Given the description of an element on the screen output the (x, y) to click on. 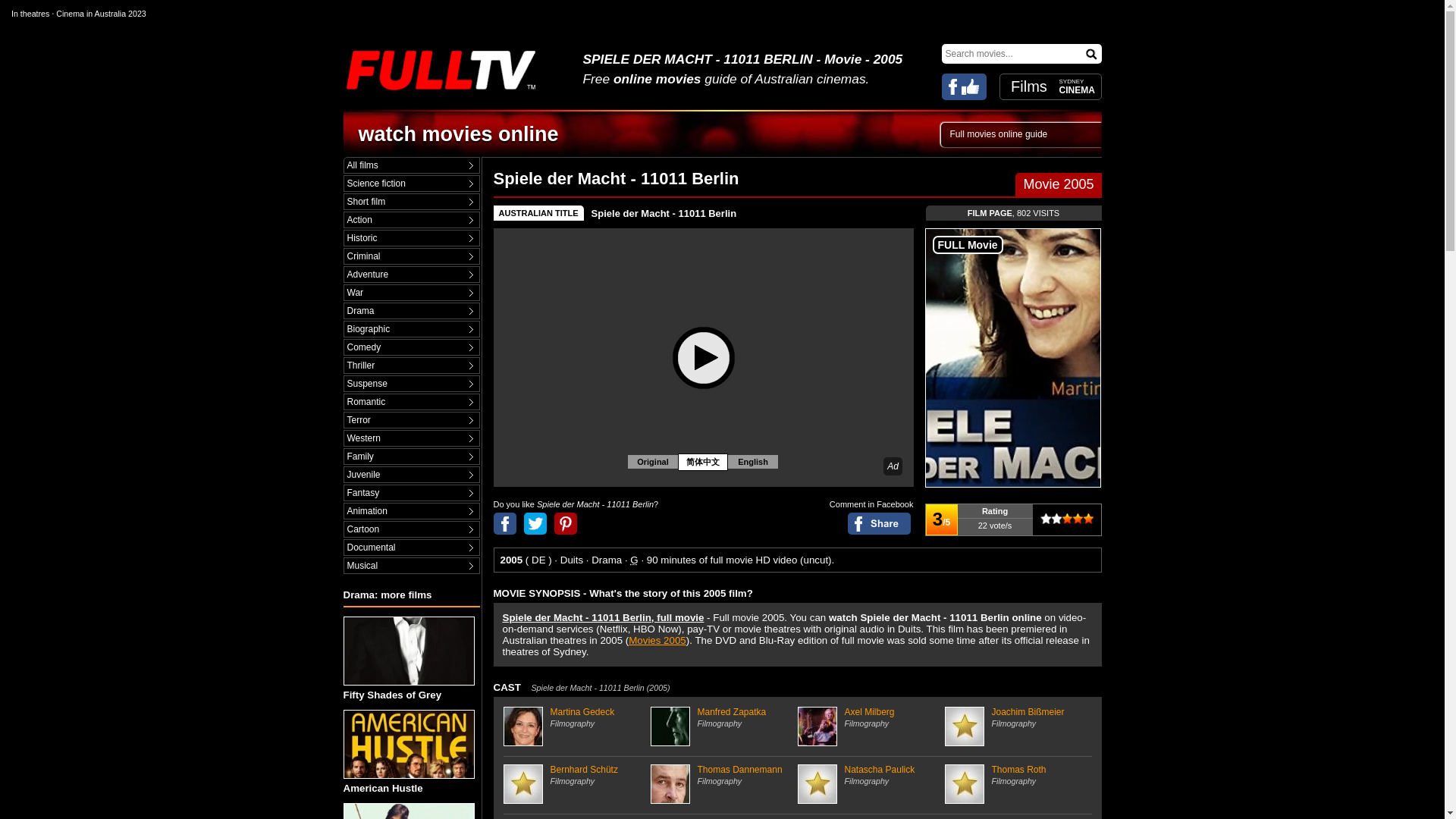
Cinema in Australia 2023 (100, 13)
Suspense (411, 383)
watch movies online (457, 133)
Maladolescenza, movie (408, 811)
Documental (411, 547)
Fifty Shades of Grey (410, 658)
Action (411, 219)
FULLTV in Facebook (964, 86)
Cartoon (411, 529)
FULLTV in Facebook (964, 86)
Romantic (411, 401)
Cinema in Australia 2023 (100, 13)
Fantasy (411, 492)
Search (1091, 53)
Animation (411, 510)
